Given the description of an element on the screen output the (x, y) to click on. 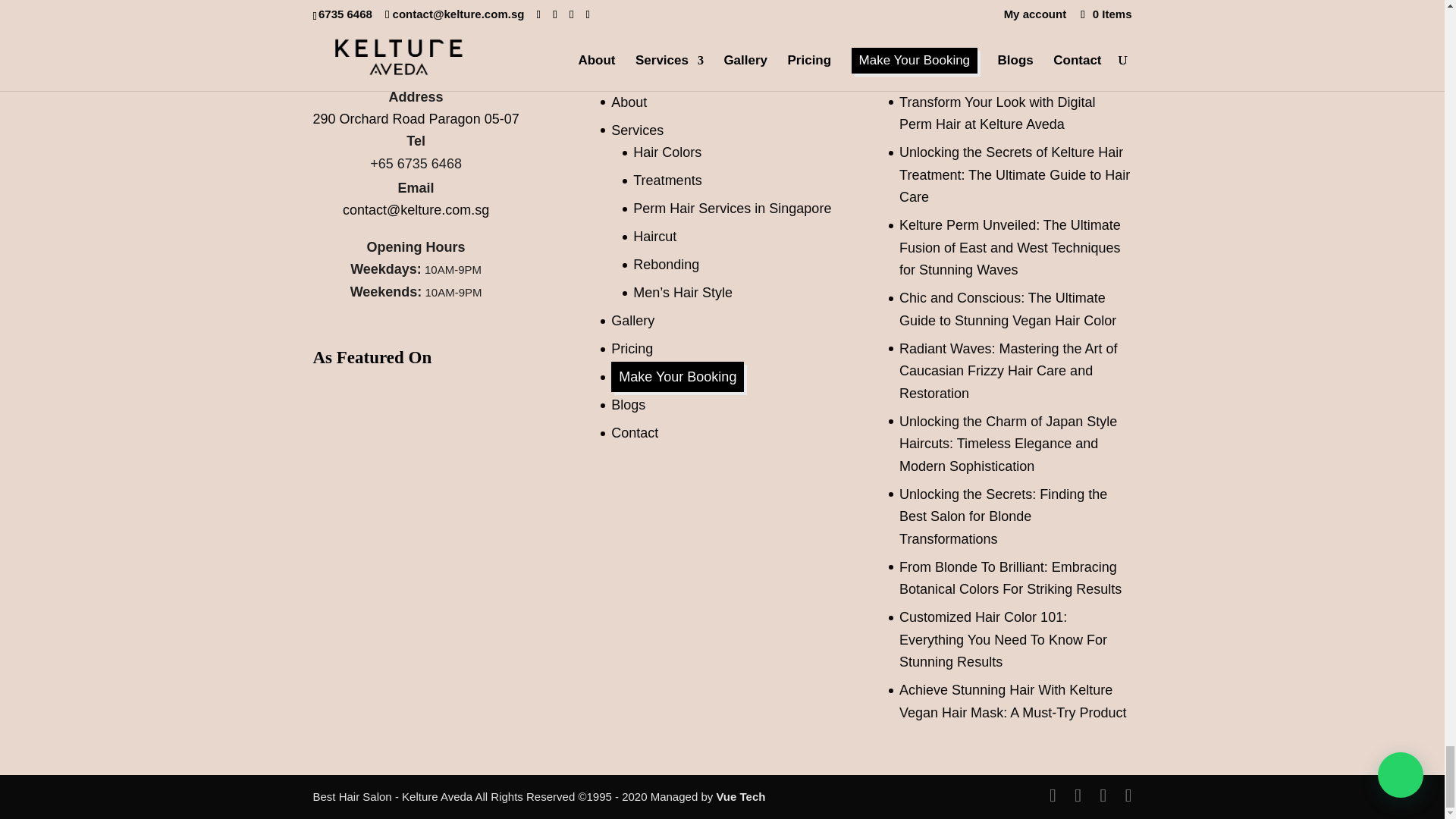
Best in Singapore Badge No BG (428, 428)
the-fun-empire (348, 428)
